Given the description of an element on the screen output the (x, y) to click on. 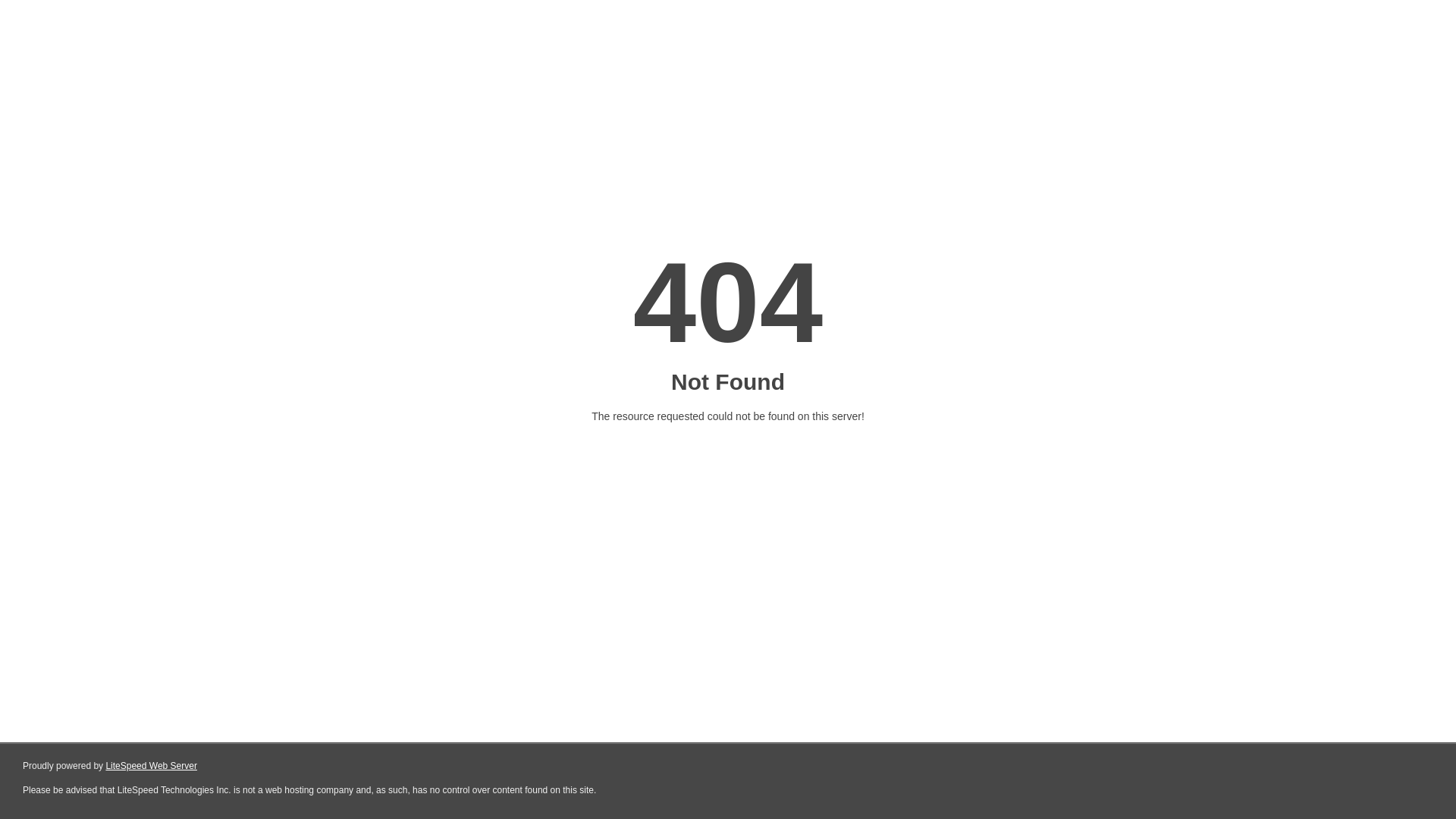
LiteSpeed Web Server Element type: text (151, 765)
